Given the description of an element on the screen output the (x, y) to click on. 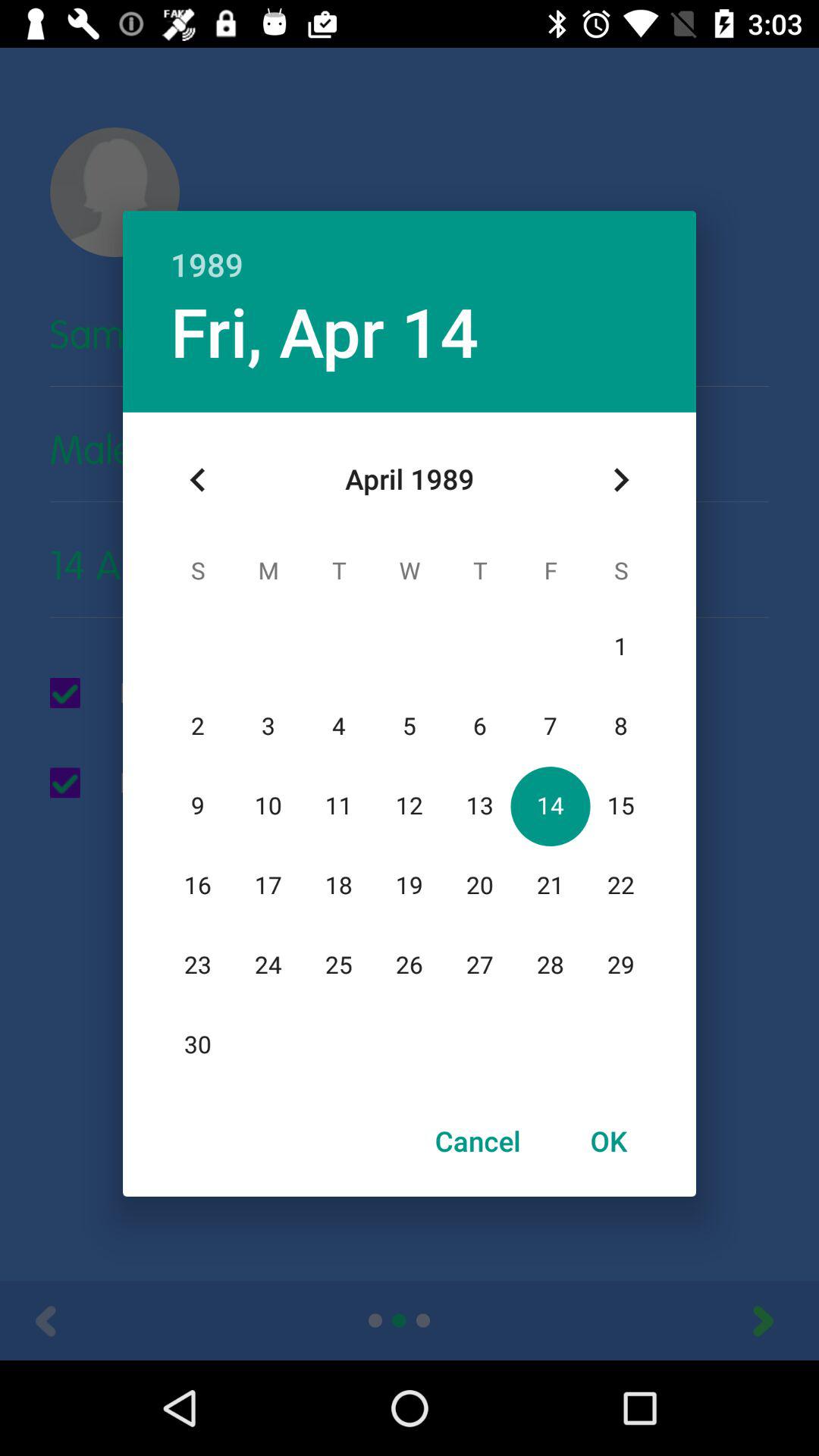
turn off the icon below the 1989 (324, 331)
